Given the description of an element on the screen output the (x, y) to click on. 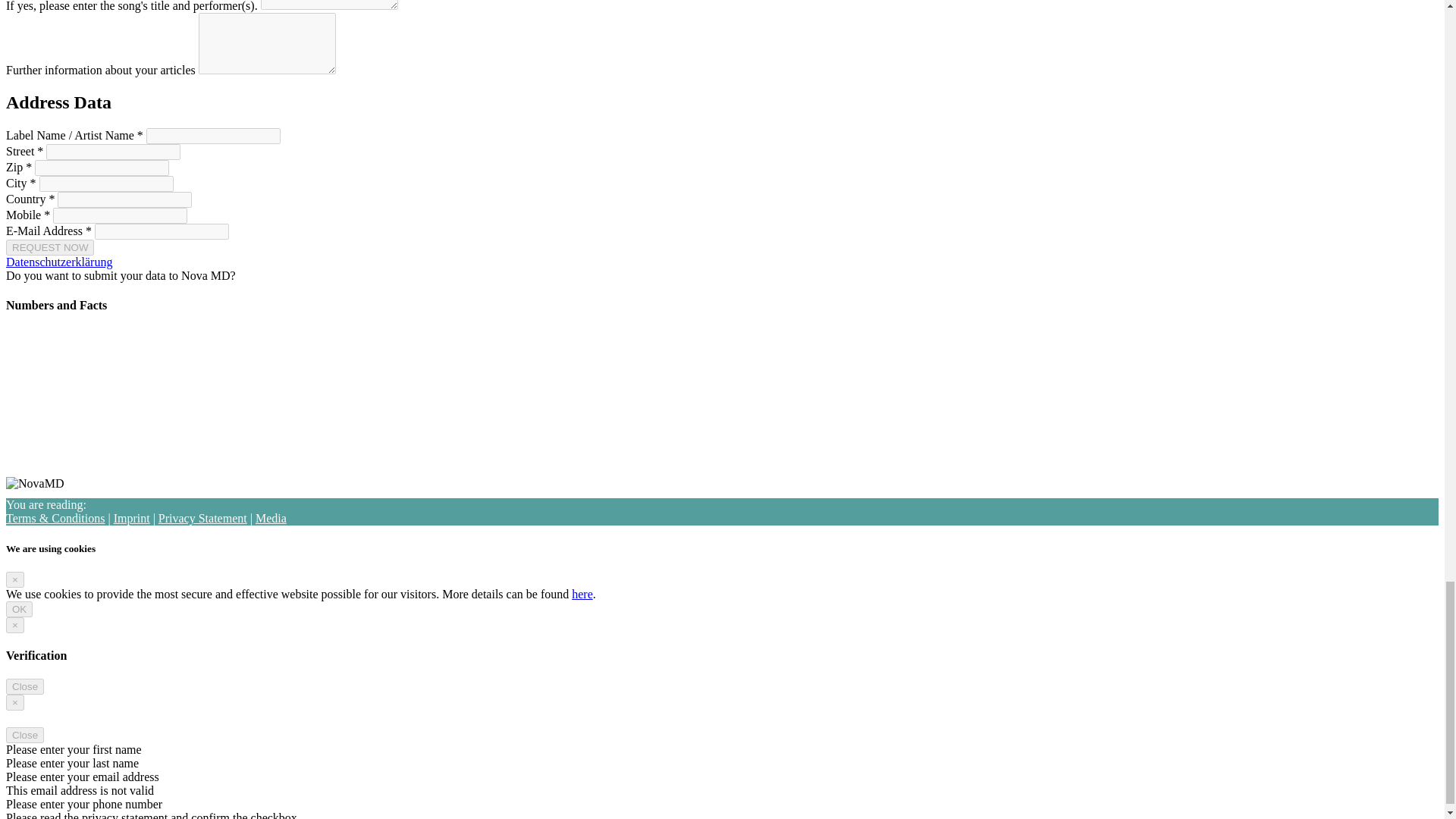
REQUEST NOW (49, 247)
